Given the description of an element on the screen output the (x, y) to click on. 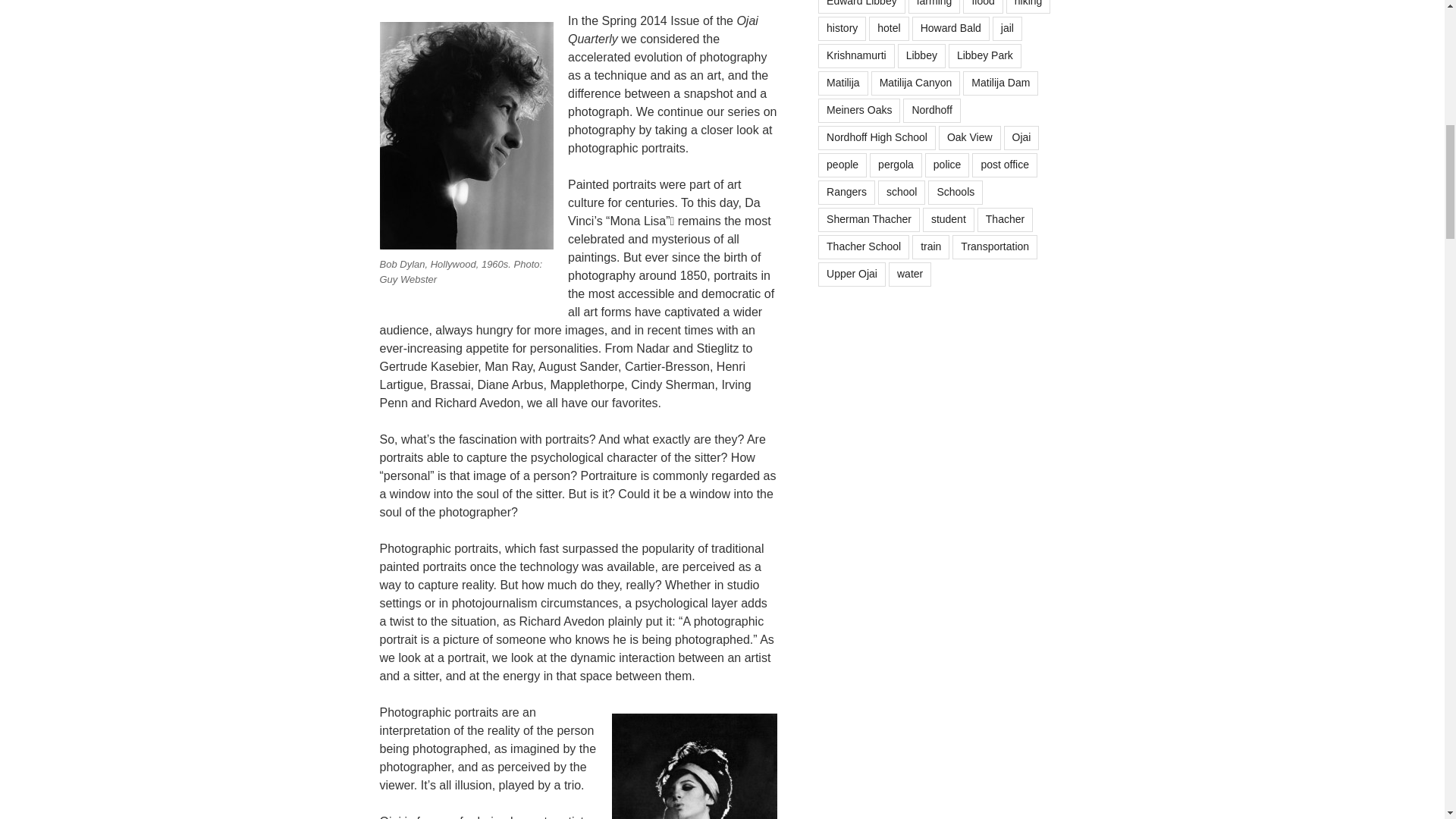
Edward Libbey (861, 6)
history (842, 28)
farming (934, 6)
flood (982, 6)
hiking (1028, 6)
